Given the description of an element on the screen output the (x, y) to click on. 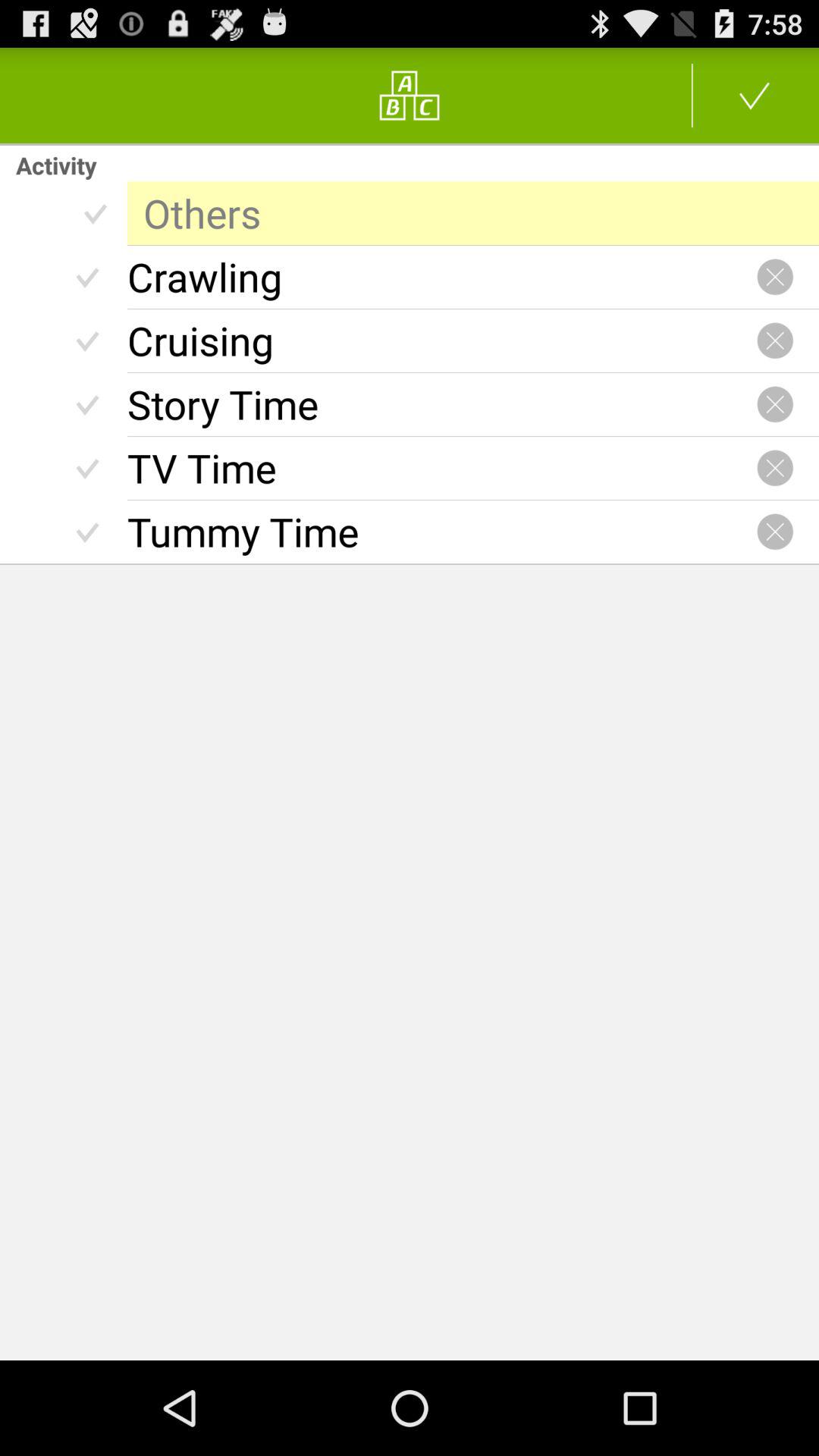
delete activity (775, 276)
